Given the description of an element on the screen output the (x, y) to click on. 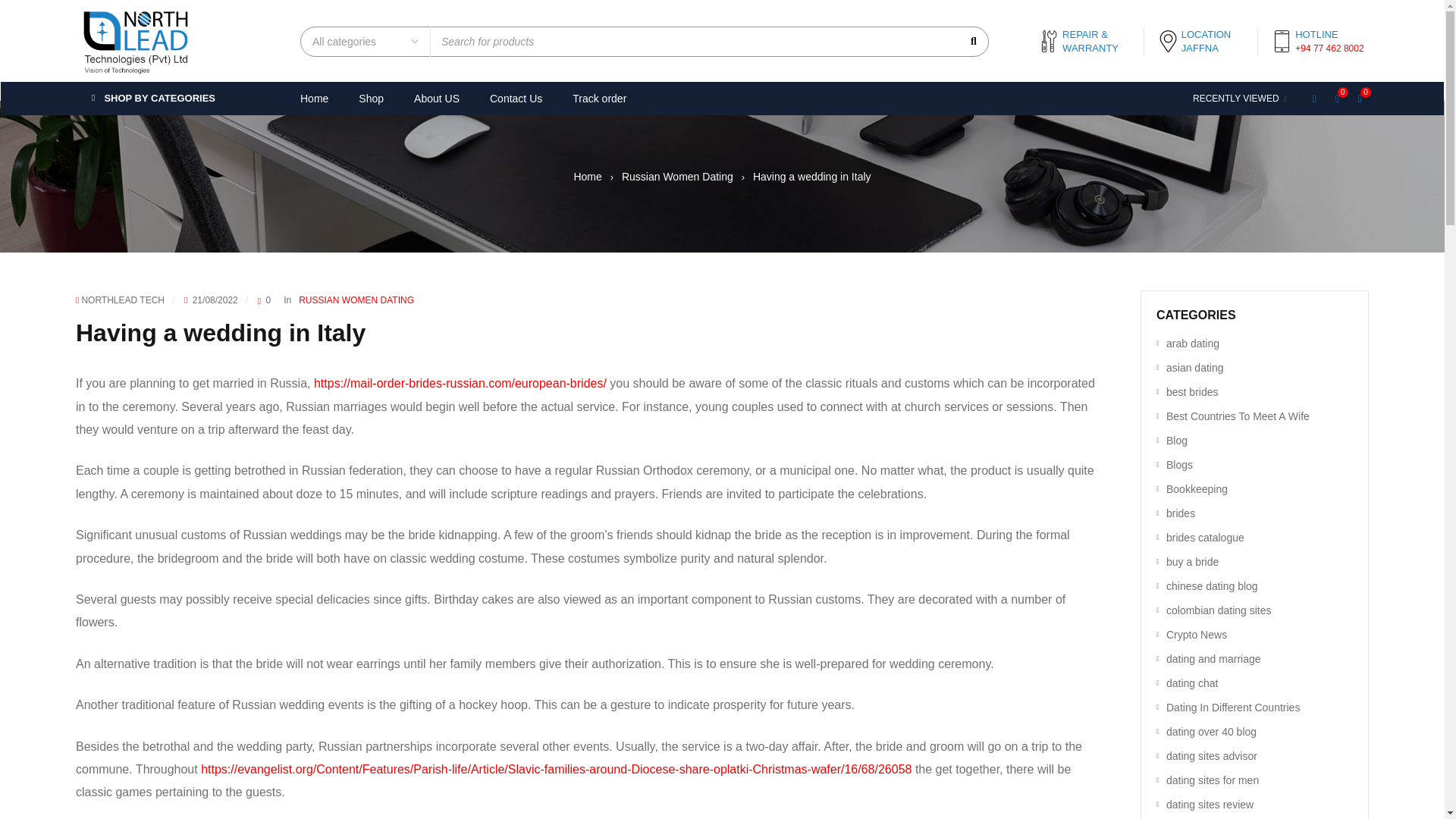
Search (972, 41)
Search (972, 41)
Search (972, 41)
Posts by northlead tech (122, 300)
